Given the description of an element on the screen output the (x, y) to click on. 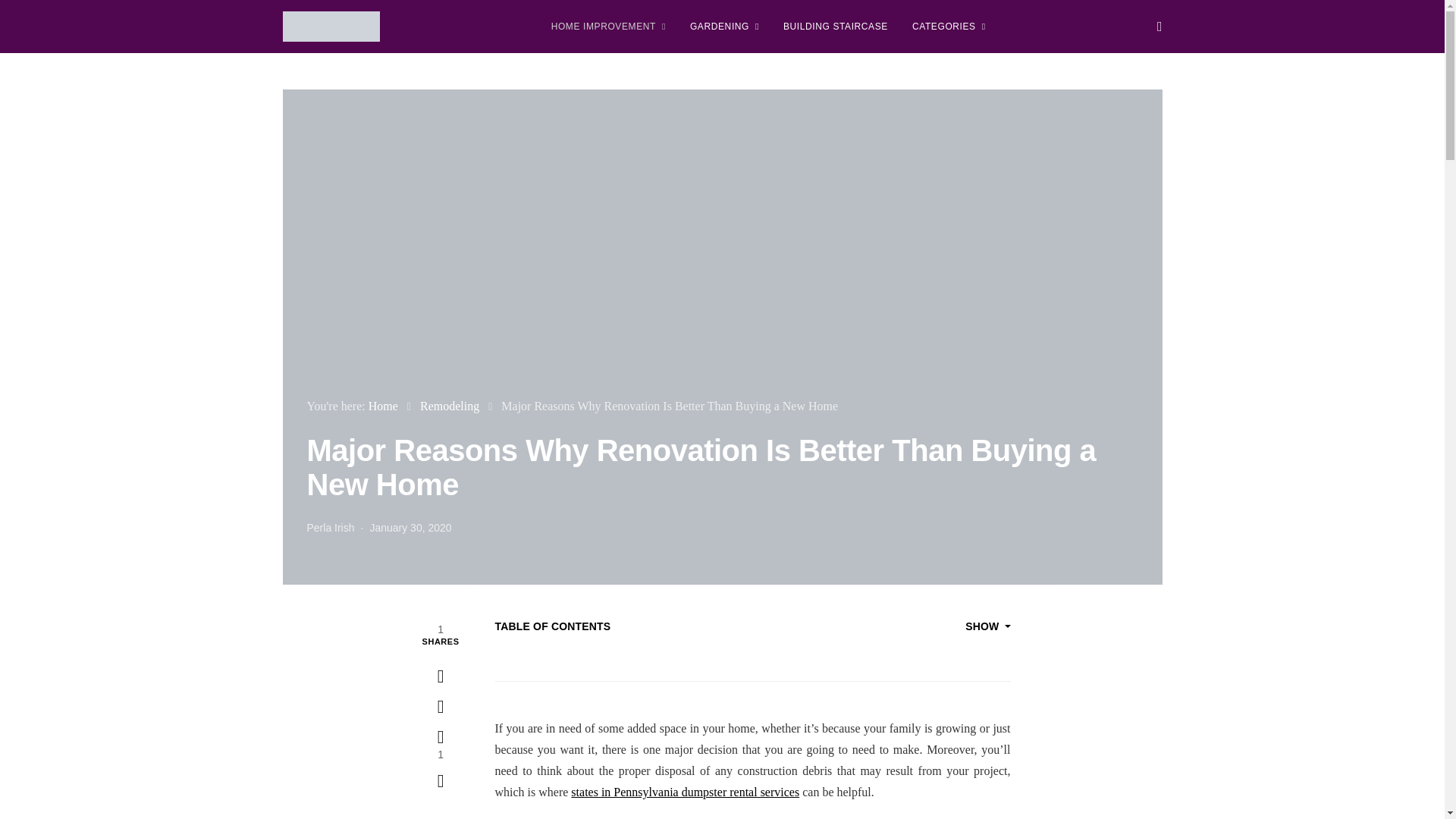
HOME IMPROVEMENT (608, 26)
View all posts by Perla Irish (329, 527)
